Given the description of an element on the screen output the (x, y) to click on. 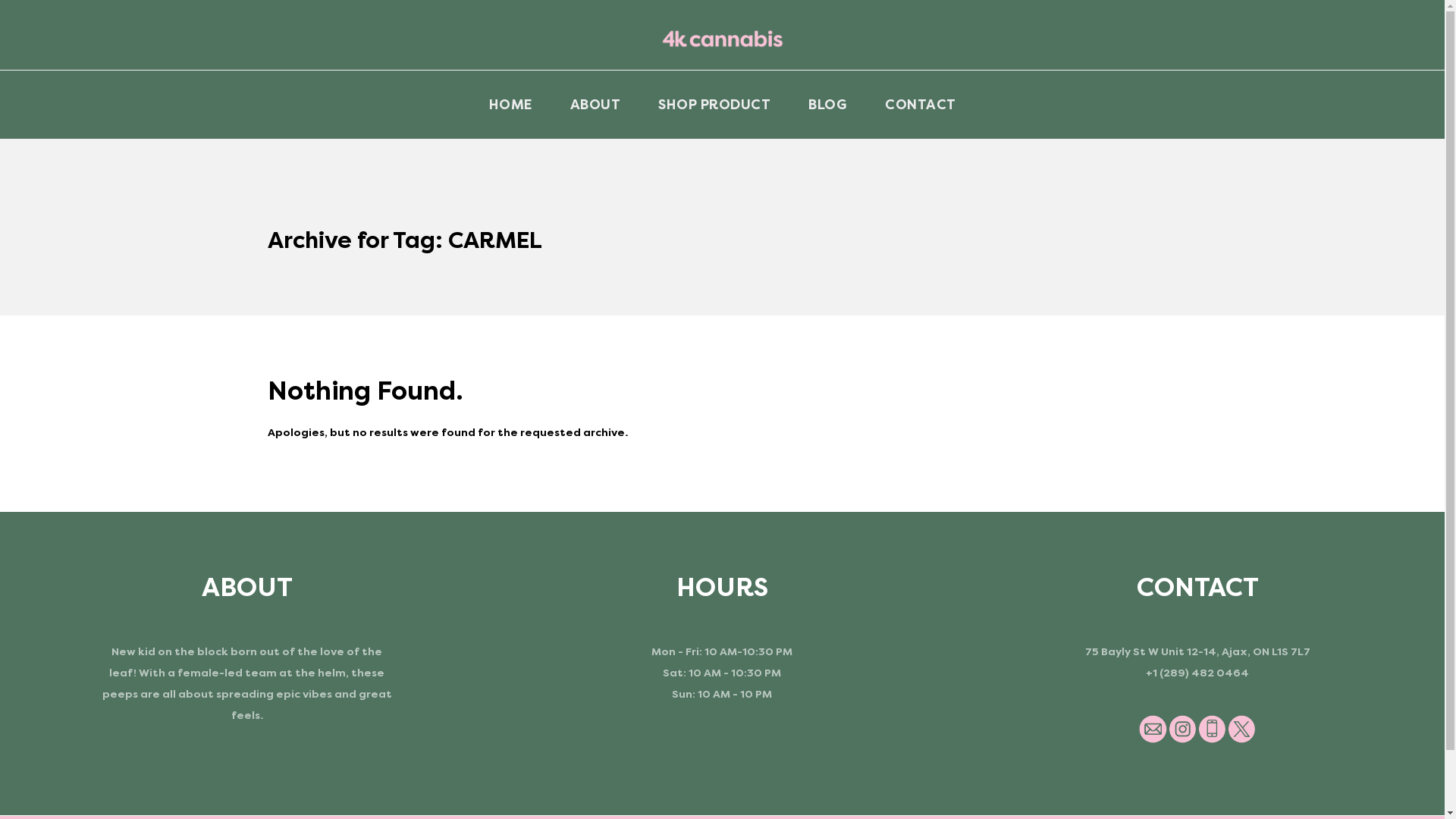
+1 (289) 482 0464 Element type: text (1196, 672)
75 Bayly St W Unit 12-14, Ajax, ON L1S 7L7 Element type: text (1197, 651)
CONTACT Element type: text (920, 104)
4k cannabis Element type: hover (722, 34)
HOME Element type: text (510, 104)
4k cannabis Element type: hover (721, 38)
ABOUT Element type: text (594, 104)
SHOP PRODUCT Element type: text (714, 104)
BLOG Element type: text (827, 104)
